Given the description of an element on the screen output the (x, y) to click on. 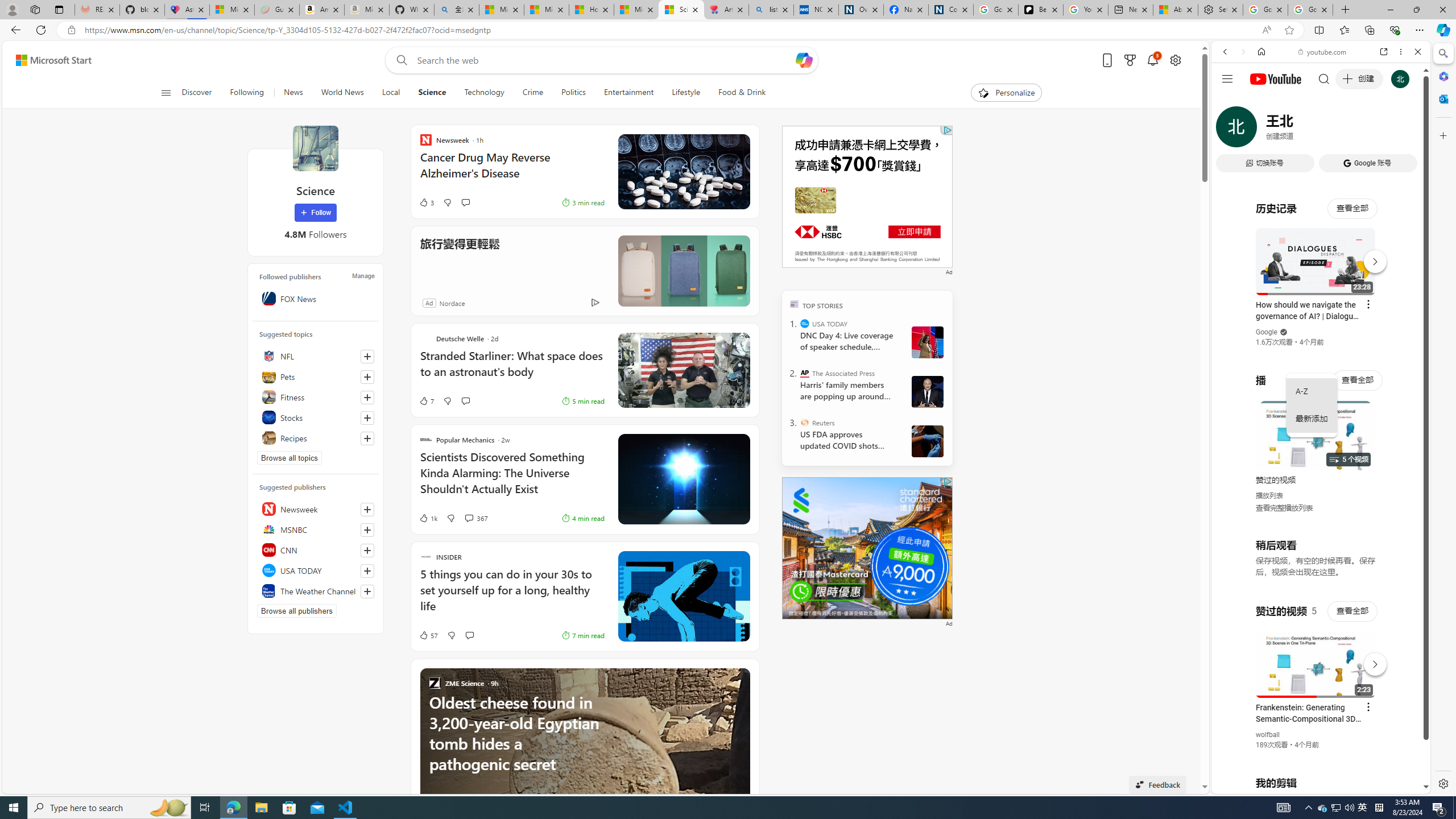
Fitness (315, 397)
Reuters (804, 422)
Technology (483, 92)
Show More Music (1390, 310)
Class: b_serphb (1404, 130)
